Given the description of an element on the screen output the (x, y) to click on. 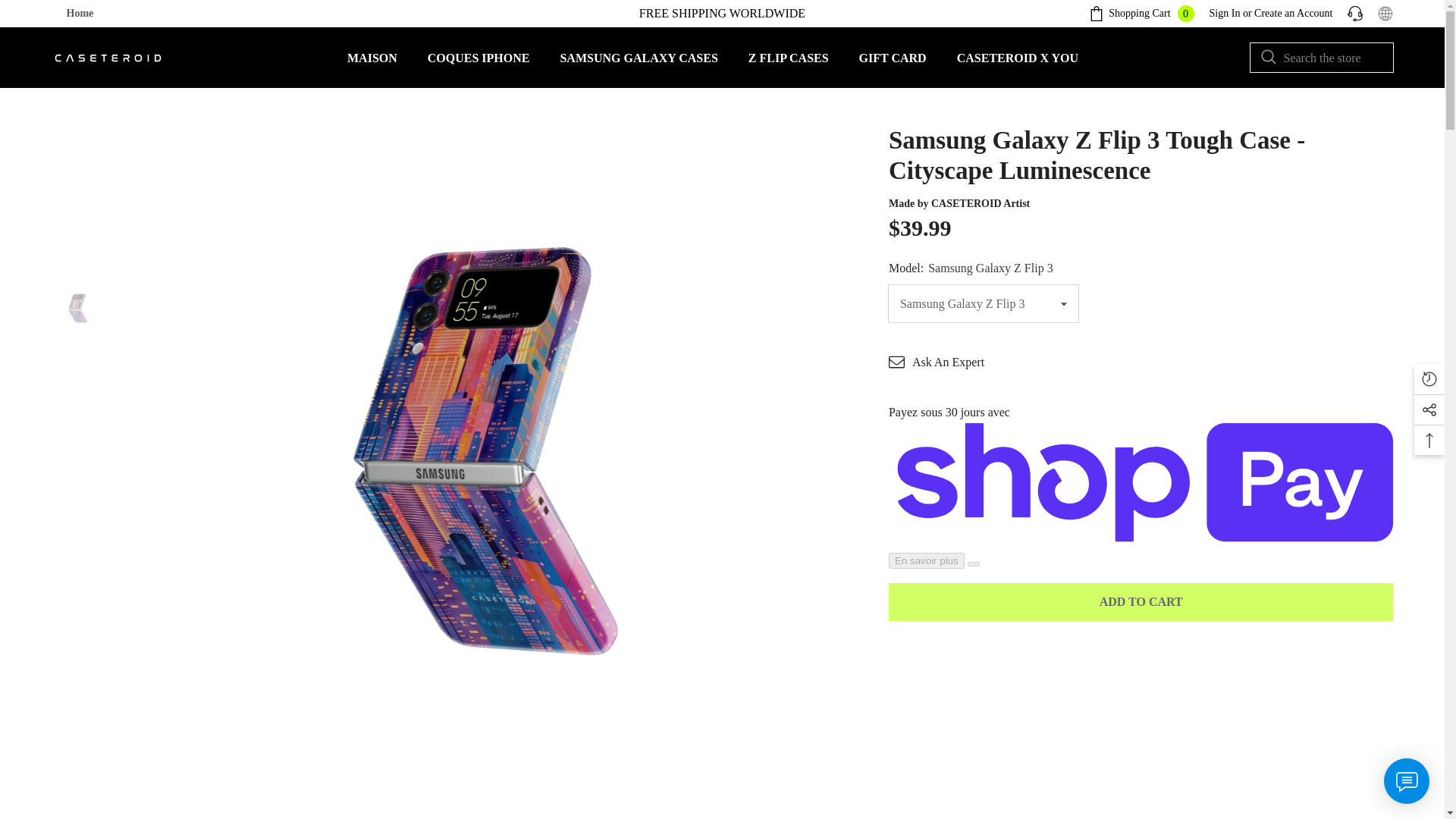
MAISON (371, 64)
COQUES IPHONE (1141, 13)
Home (478, 64)
Sign In (79, 13)
SAMSUNG GALAXY CASES (1224, 12)
Z FLIP CASES (638, 64)
CASETEROID X YOU (788, 64)
Create an Account (1017, 64)
GIFT CARD (1292, 12)
